Given the description of an element on the screen output the (x, y) to click on. 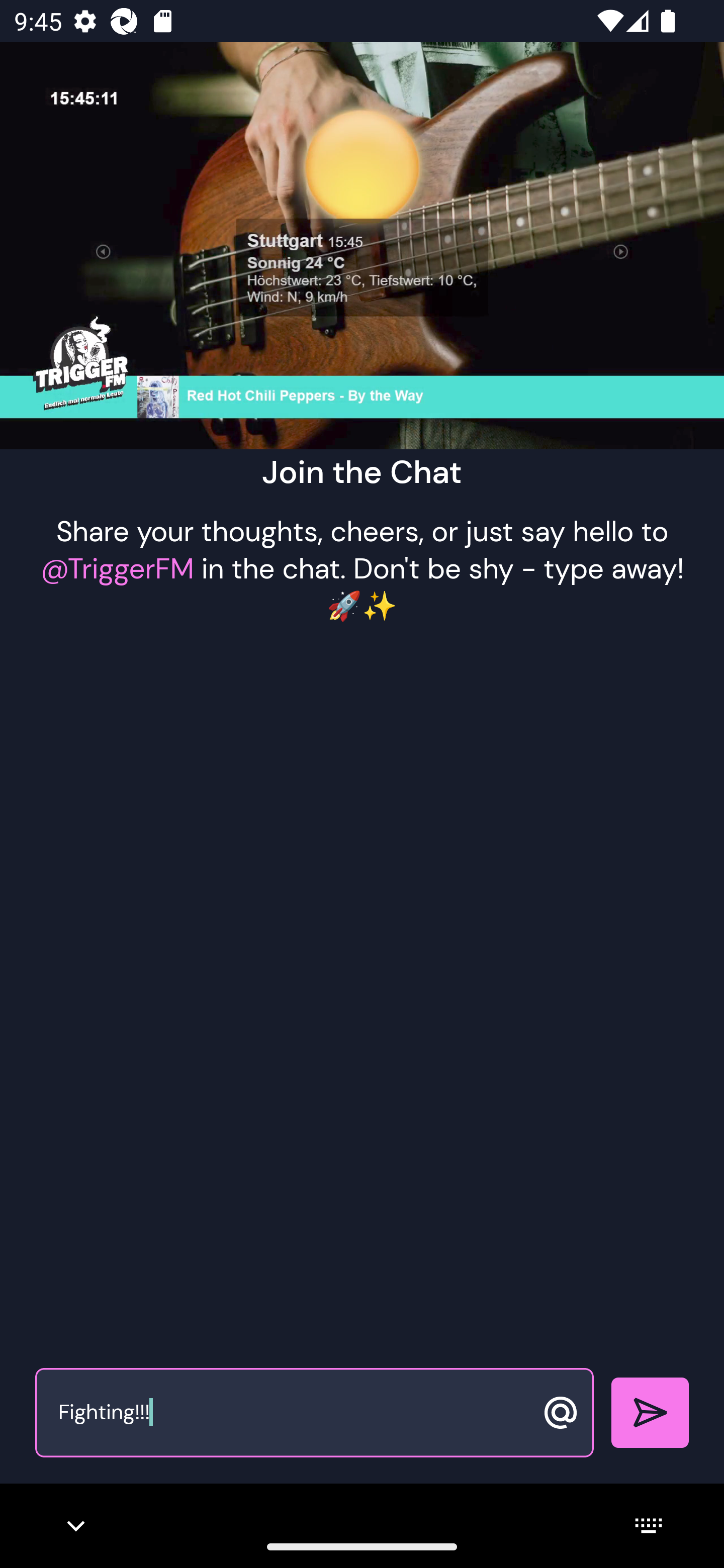
Fighting!!! (292, 1413)
